Given the description of an element on the screen output the (x, y) to click on. 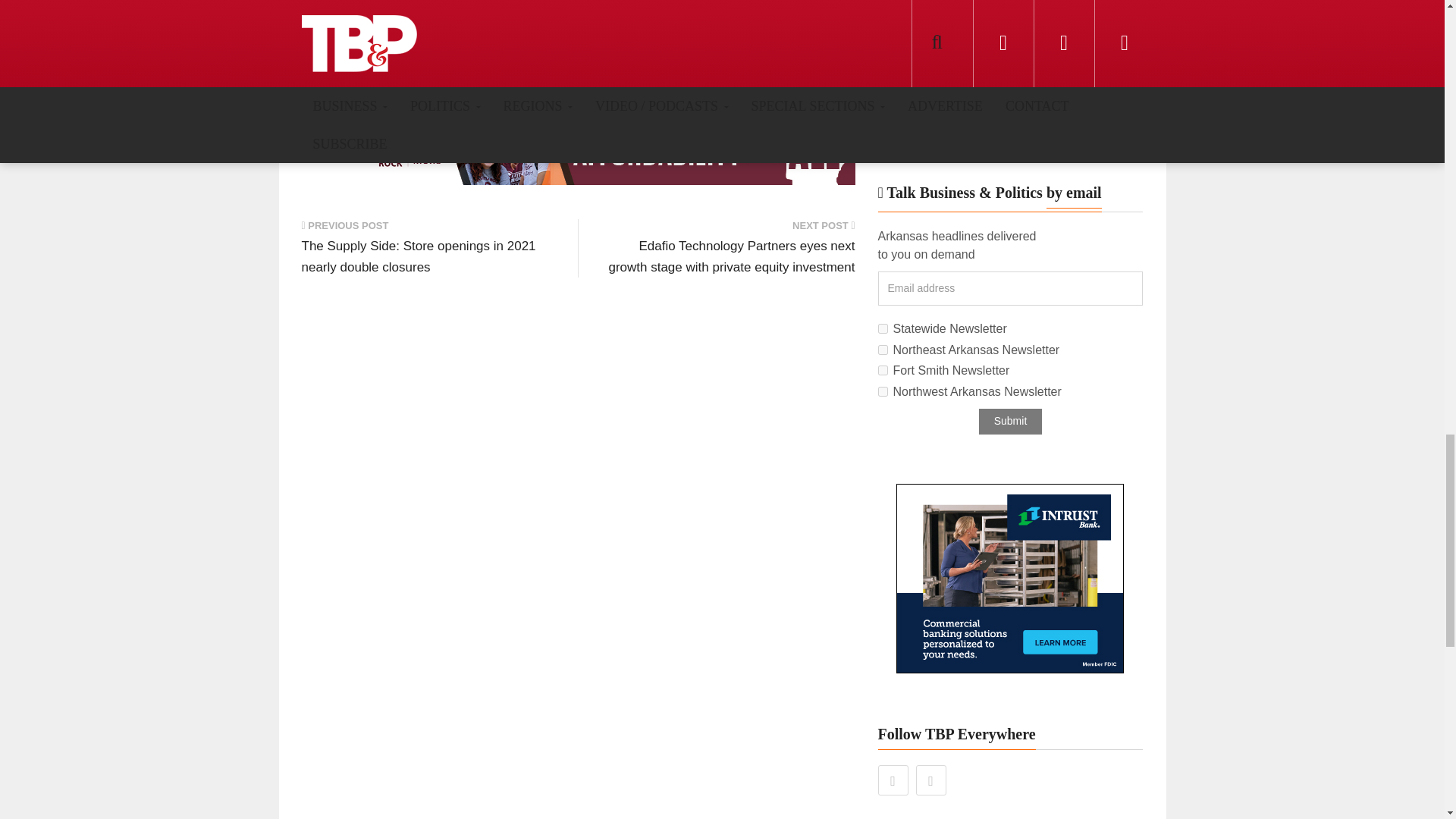
536baa6e11 (882, 391)
a8cb0d3206 (882, 328)
bfd07a2f6a (882, 370)
0dbc242577 (882, 349)
